Given the description of an element on the screen output the (x, y) to click on. 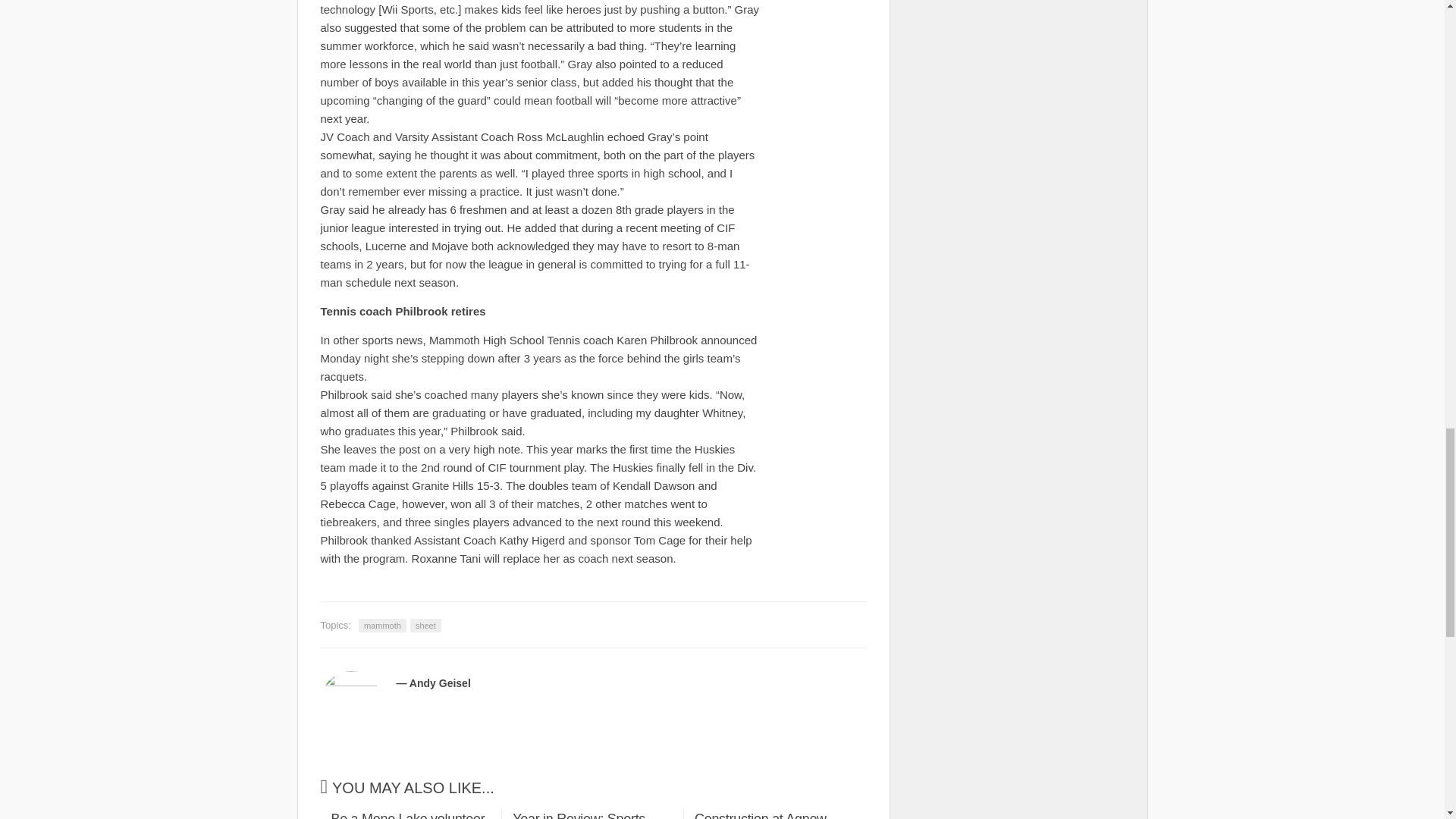
mammoth (382, 625)
sheet (774, 814)
